Given the description of an element on the screen output the (x, y) to click on. 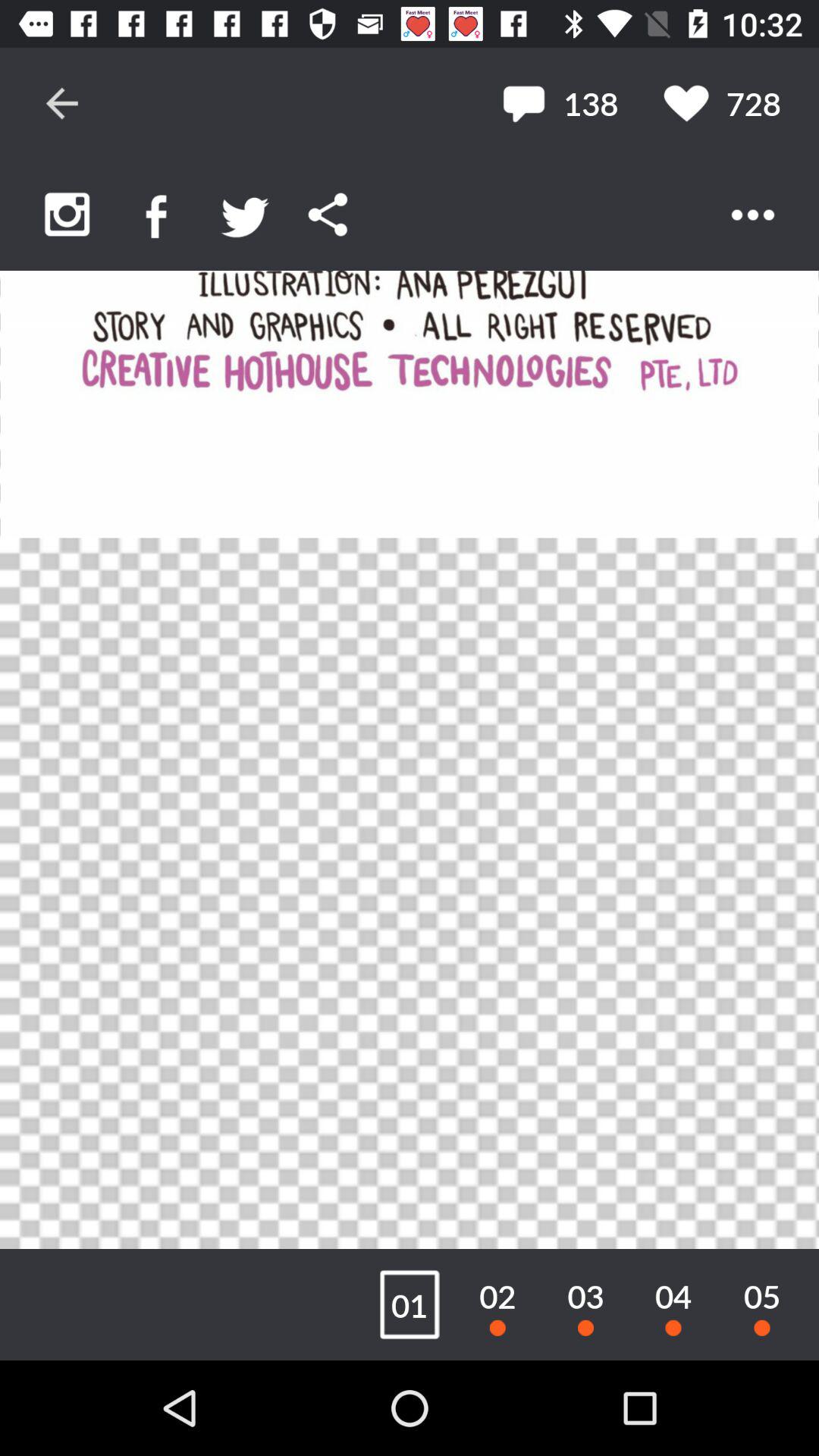
open instagram page (66, 214)
